Given the description of an element on the screen output the (x, y) to click on. 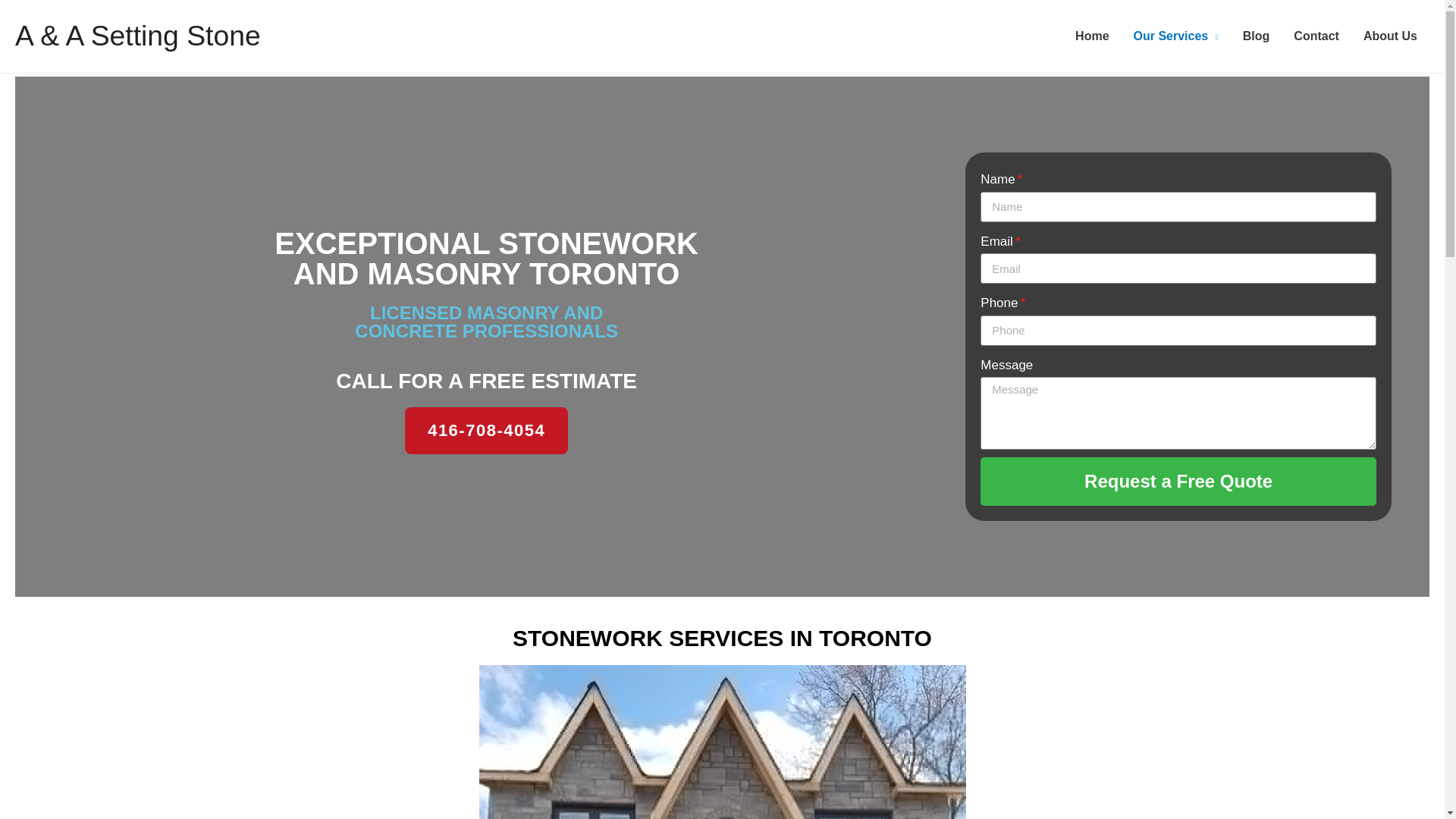
Blog (1256, 36)
416-708-4054 (485, 430)
Our Services (1175, 36)
Home (1091, 36)
About Us (1390, 36)
Contact (1316, 36)
Request a Free Quote (1177, 481)
